Given the description of an element on the screen output the (x, y) to click on. 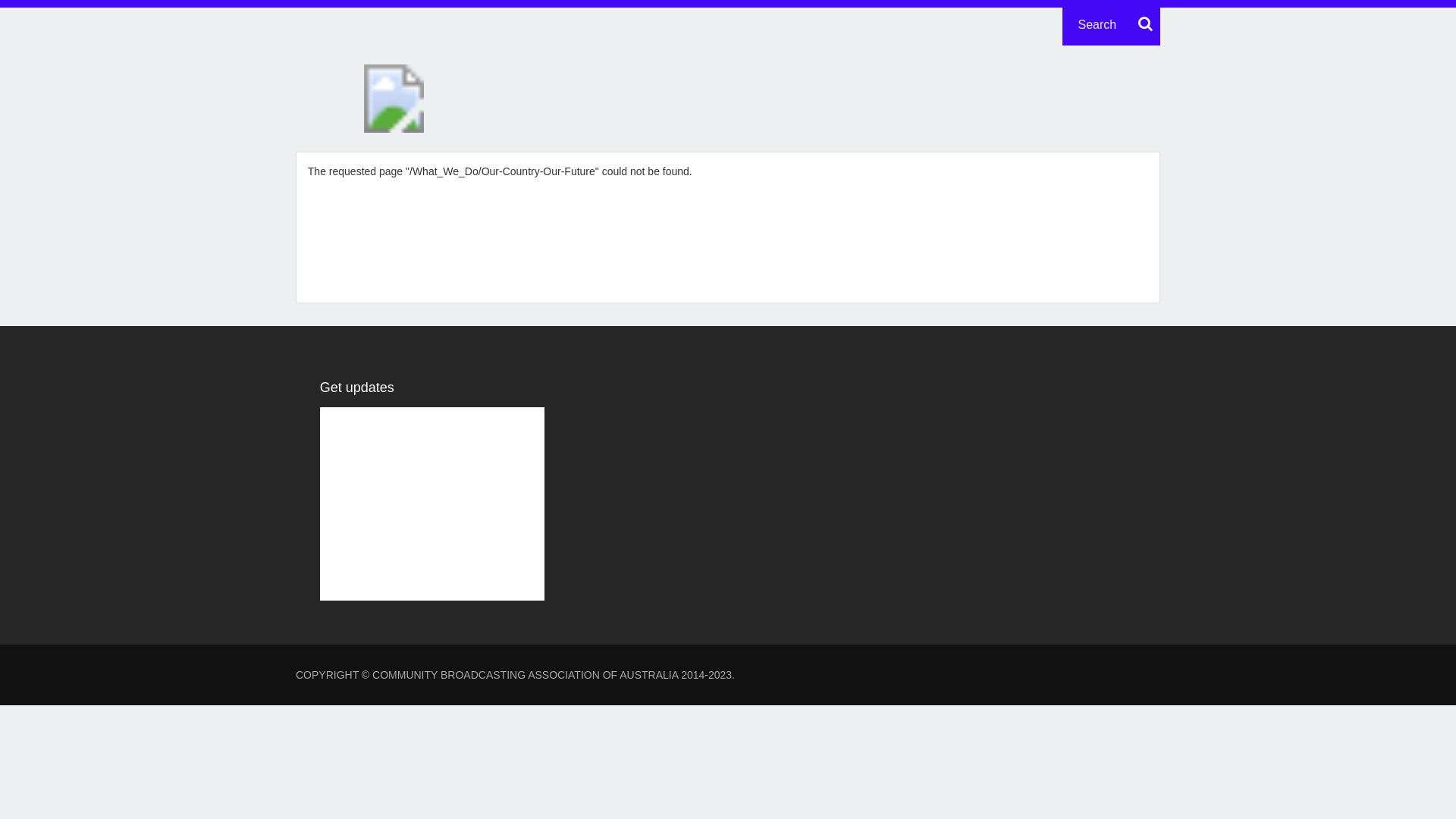
Search Element type: text (1143, 23)
Skip to main content Element type: text (48, 0)
